Given the description of an element on the screen output the (x, y) to click on. 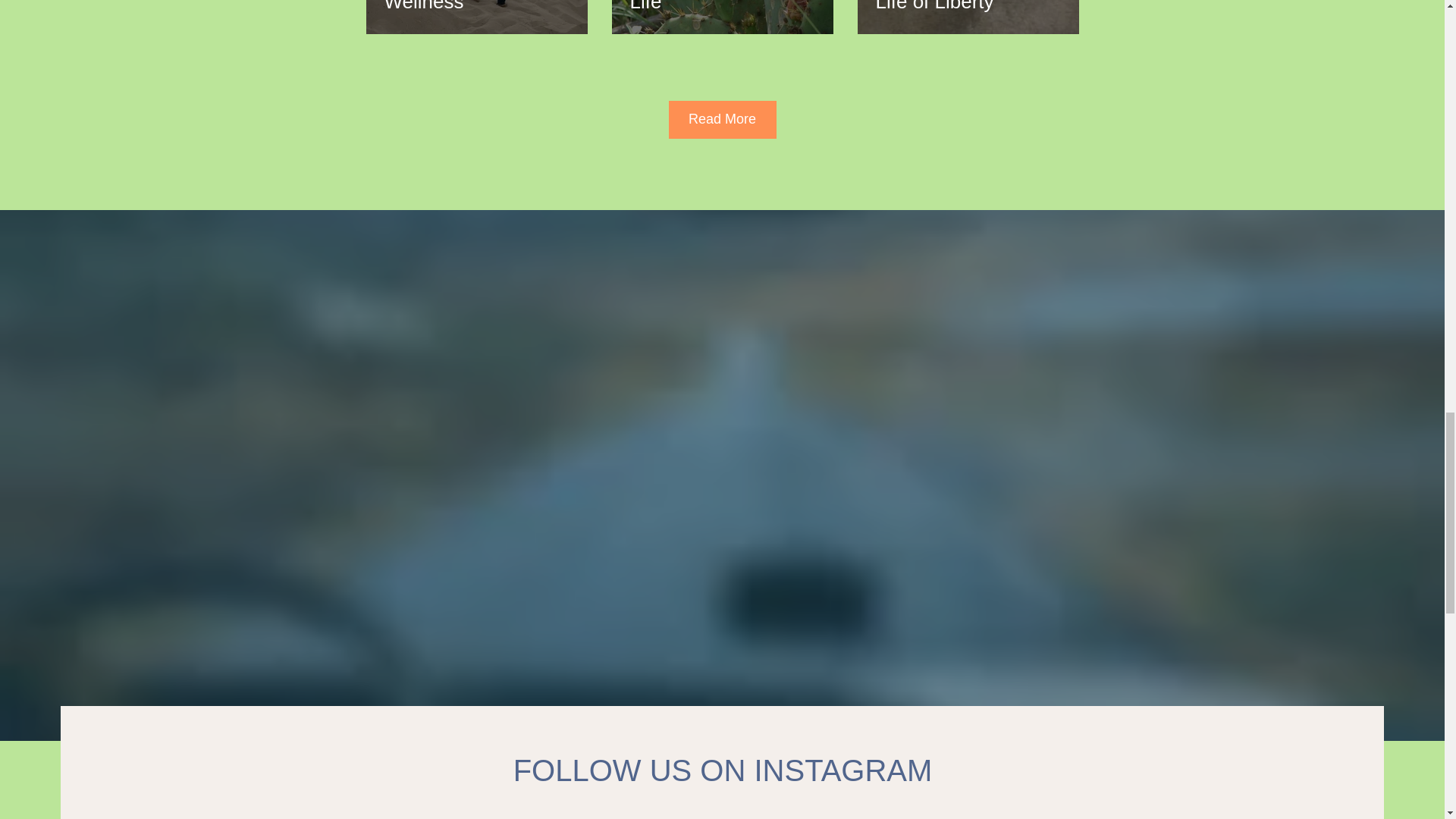
Read More (722, 119)
Pura Vida: Beautiful Life (720, 6)
Life of Liberty (967, 6)
My Journey to Wellness (476, 6)
